Given the description of an element on the screen output the (x, y) to click on. 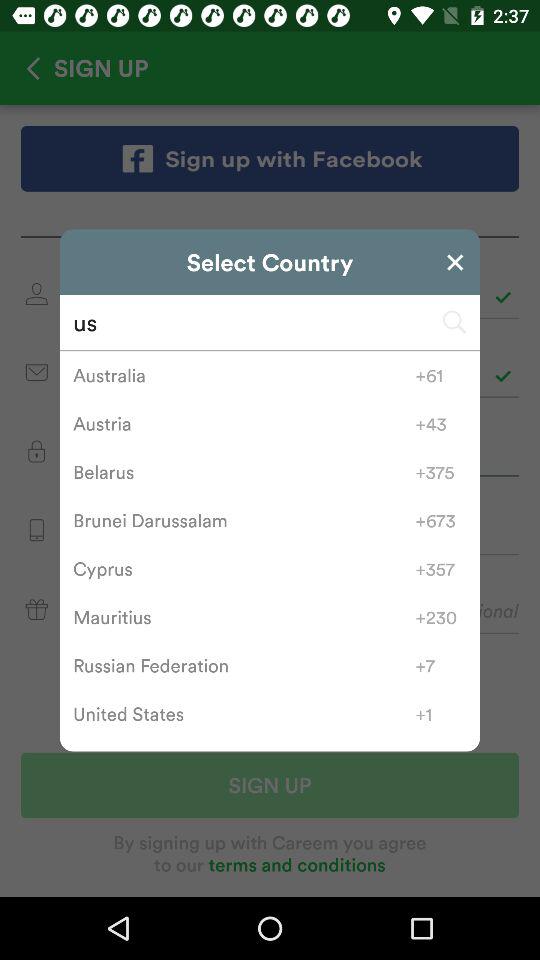
turn on the brunei darussalam (244, 520)
